Given the description of an element on the screen output the (x, y) to click on. 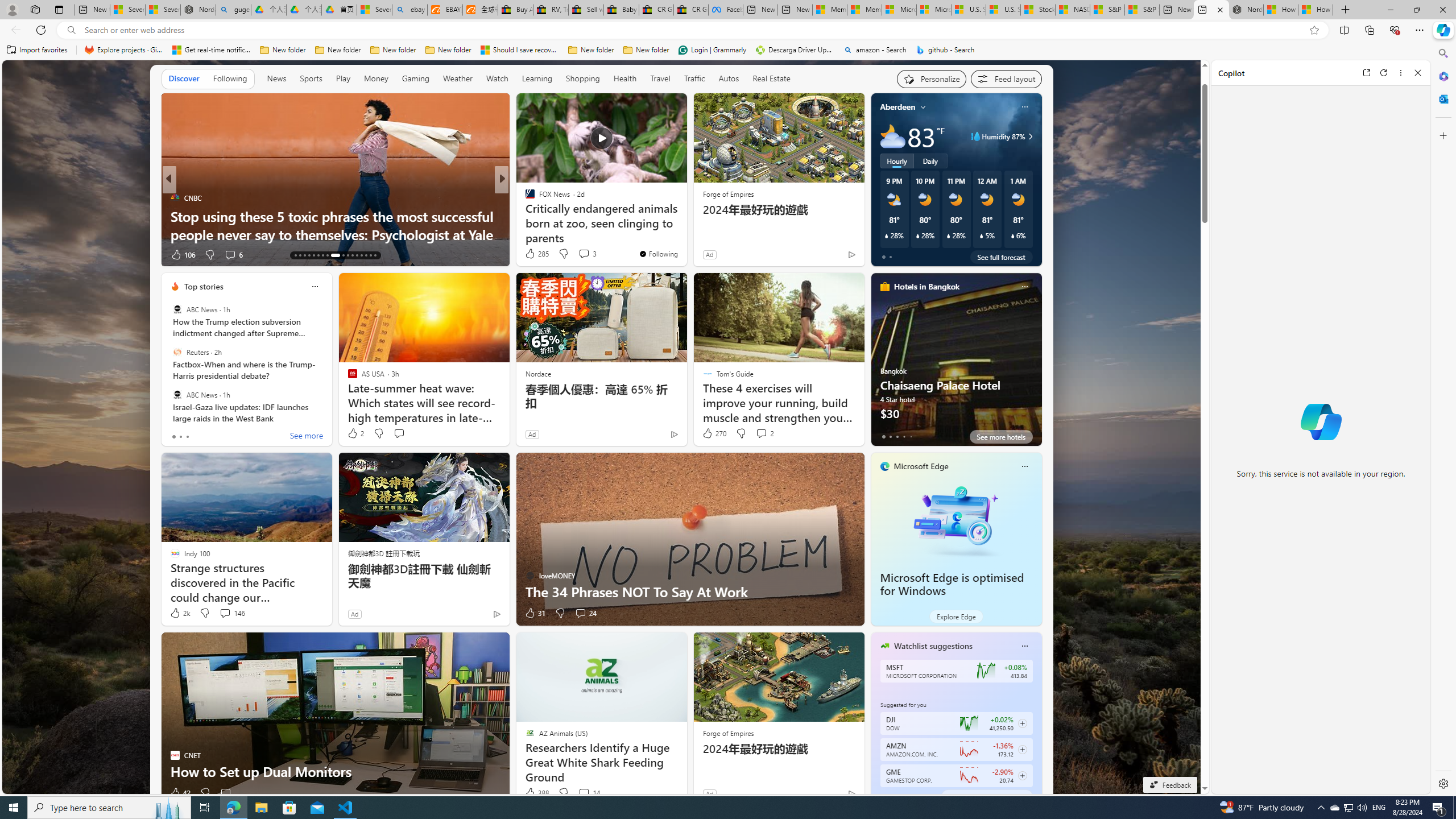
Should I save recovered Word documents? - Microsoft Support (519, 49)
AutomationID: backgroundImagePicture (601, 426)
22 Like (530, 254)
Shopping (582, 78)
guge yunpan - Search (233, 9)
270 Like (713, 433)
Learning (537, 79)
Personalize your feed" (931, 78)
Feed settings (1005, 78)
Search icon (70, 29)
ABC News (176, 394)
github - Search (945, 49)
Class: weather-arrow-glyph (1029, 136)
